Given the description of an element on the screen output the (x, y) to click on. 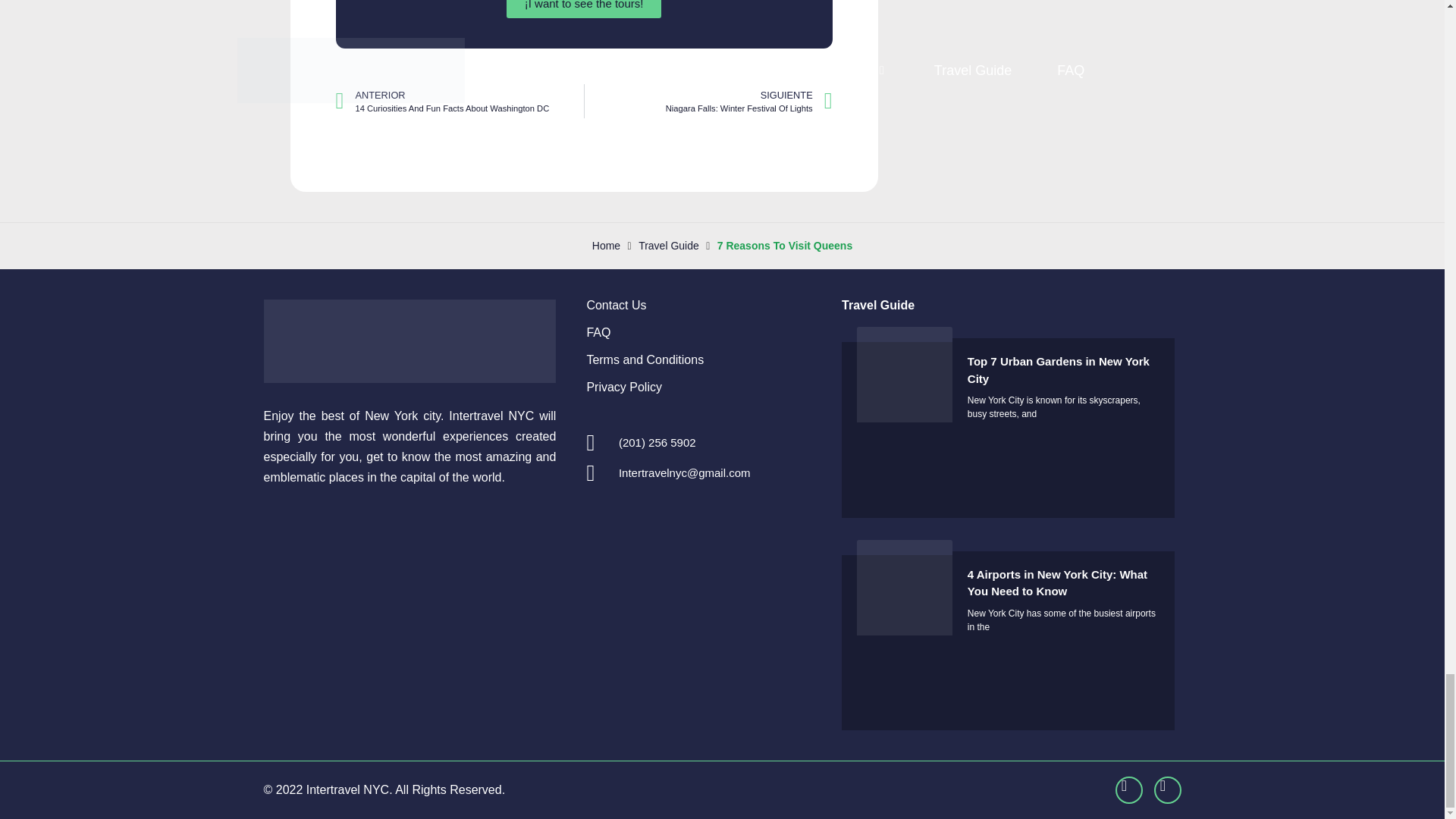
Terms and Conditions (644, 359)
Travel Guide (668, 245)
Travel Guide (458, 100)
Contact Us (877, 305)
Home (616, 305)
FAQ (606, 245)
Home (598, 332)
Privacy Policy (606, 245)
